Given the description of an element on the screen output the (x, y) to click on. 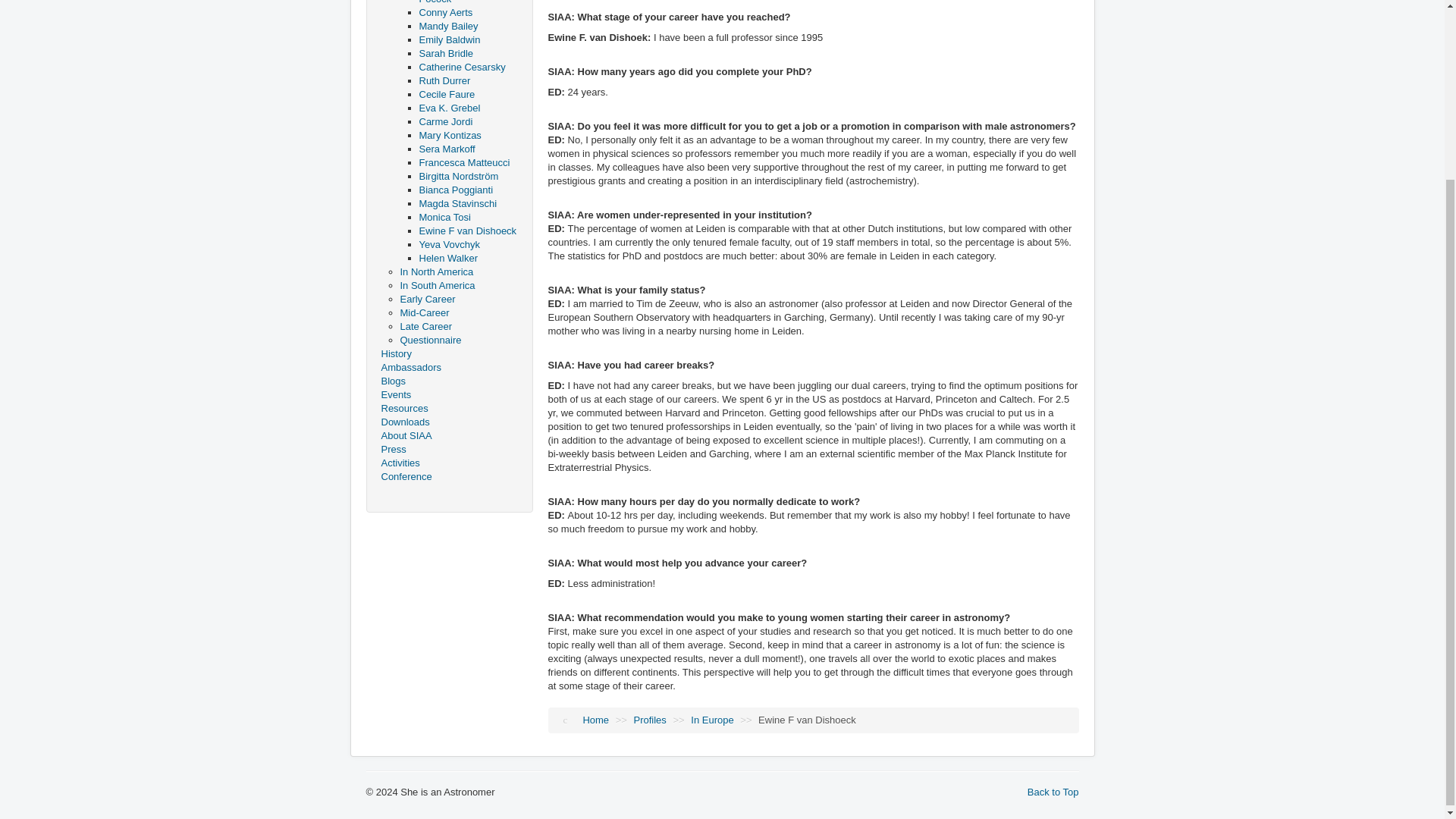
Eva K. Grebel (449, 107)
Mandy Bailey (448, 25)
Mary Kontizas (449, 134)
Early Career (427, 298)
Helen Walker (448, 257)
Magda Stavinschi (457, 203)
Catherine Cesarsky (462, 66)
In South America (438, 285)
Francesca Matteucci (464, 162)
Blogs (448, 381)
Ruth Durrer (444, 80)
Questionnaire (430, 339)
Cecile Faure (446, 93)
Downloads (448, 422)
Mid-Career (424, 312)
